Given the description of an element on the screen output the (x, y) to click on. 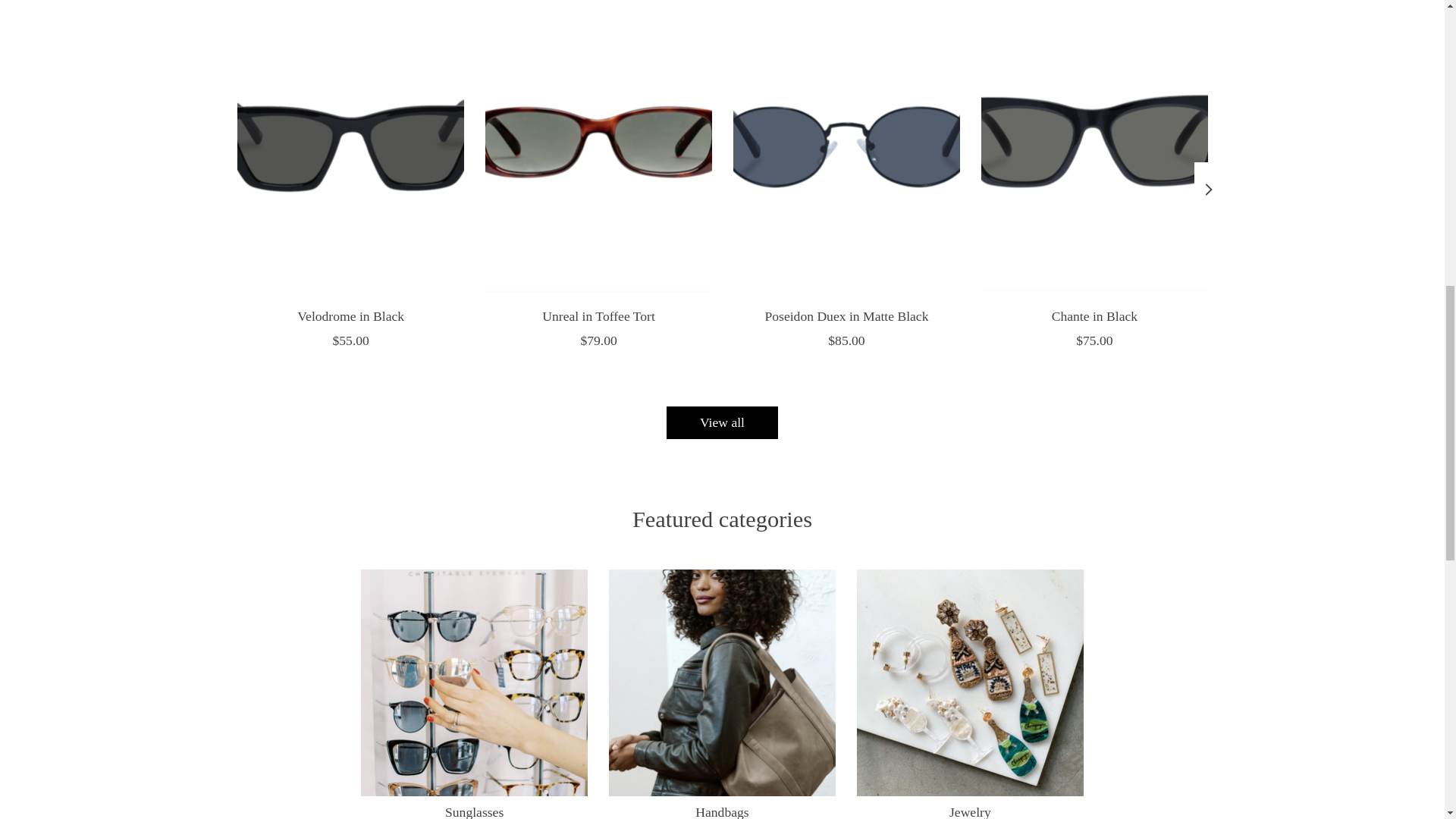
Handbags (721, 682)
Sunglasses (474, 682)
Elitaire Boutique Poseidon Duex in Matte Black (845, 147)
Elitaire Boutique Unreal in Toffee Tort (597, 147)
Elitaire Boutique Velodrome in Black (349, 147)
Elitaire Boutique Chante in Black (1093, 147)
